Given the description of an element on the screen output the (x, y) to click on. 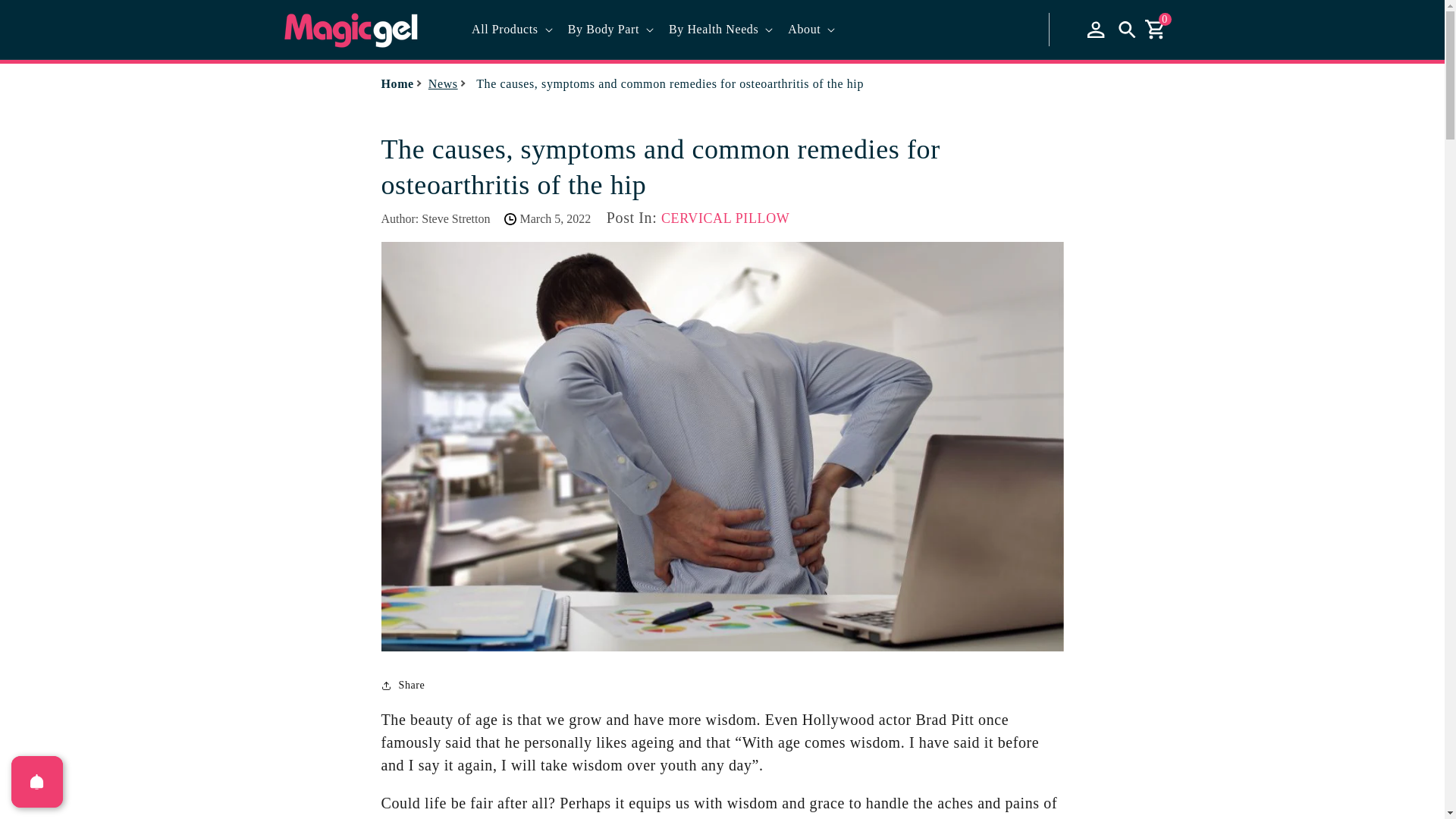
Skip to content (45, 17)
